Given the description of an element on the screen output the (x, y) to click on. 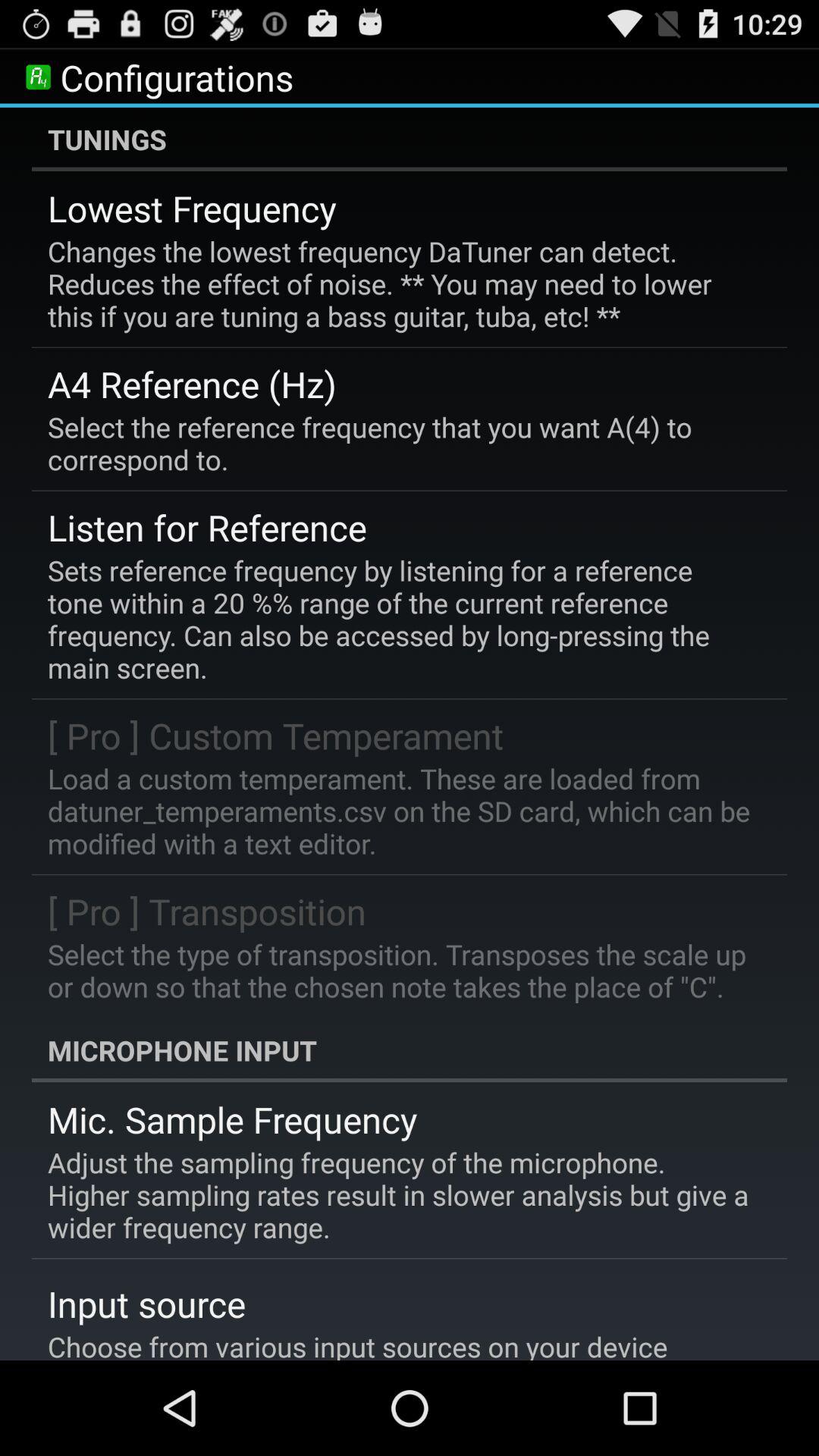
click item above the input source icon (399, 1194)
